Given the description of an element on the screen output the (x, y) to click on. 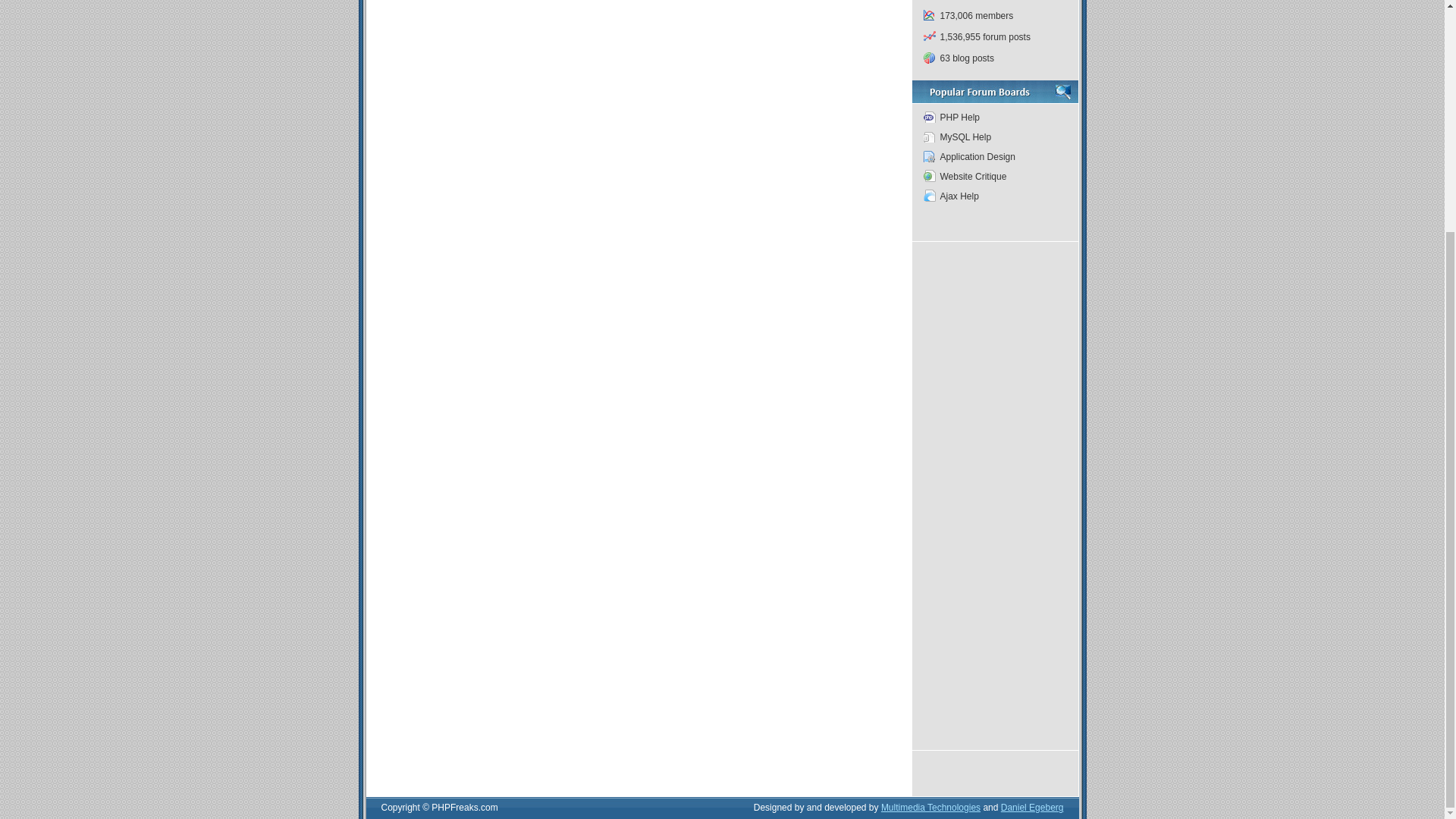
Website Critique (994, 176)
PHP Help (994, 117)
Ajax Help (994, 196)
Multimedia Technologies (929, 807)
Daniel Egeberg (1032, 807)
Application Design (994, 157)
MySQL Help (994, 137)
